Given the description of an element on the screen output the (x, y) to click on. 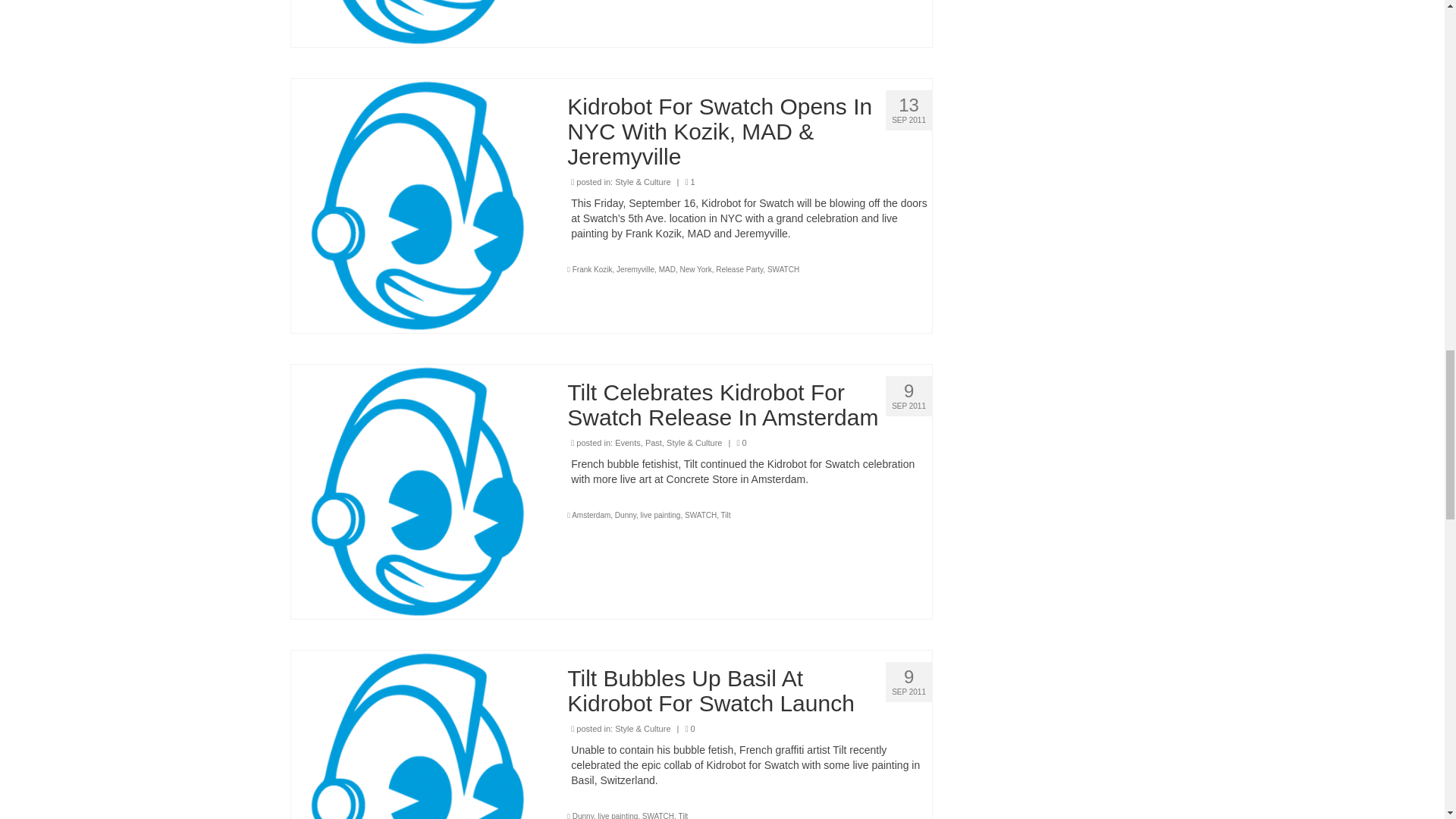
Tilt Celebrates Kidrobot For Swatch Release In Amsterdam (417, 490)
Tilt Bubbles Up Basil At Kidrobot For Swatch Launch (417, 776)
